Given the description of an element on the screen output the (x, y) to click on. 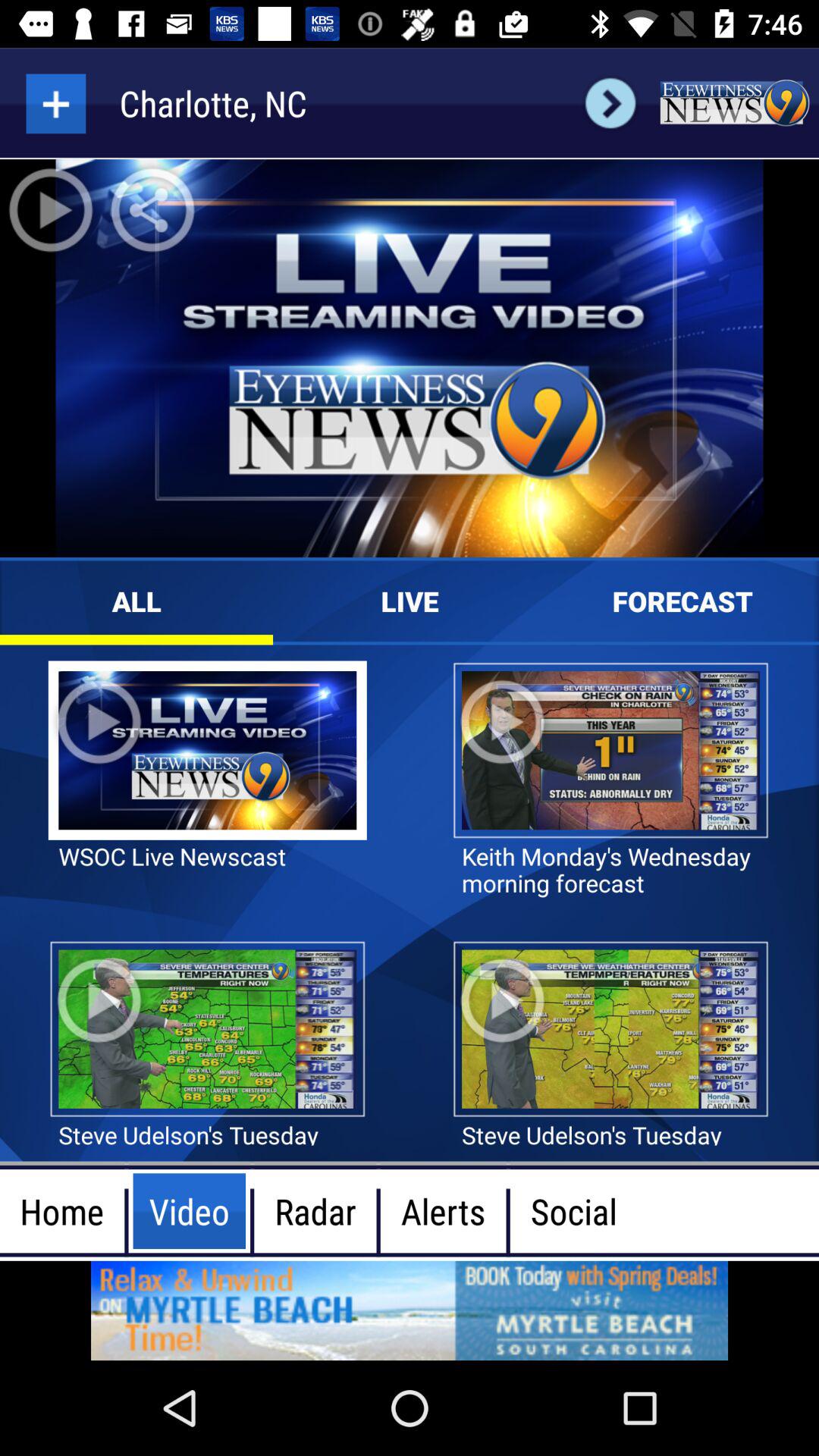
add page (55, 103)
